Given the description of an element on the screen output the (x, y) to click on. 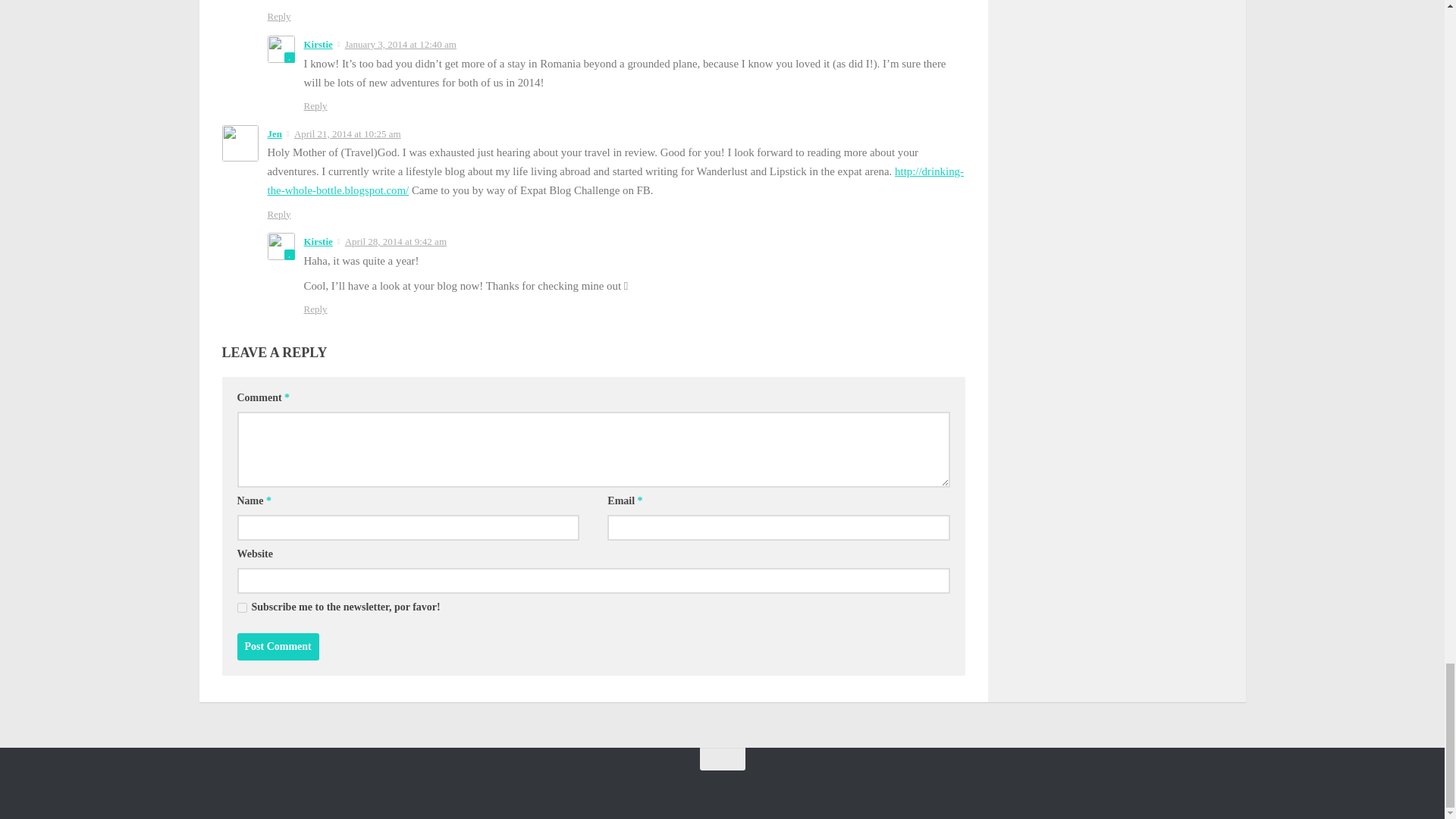
Post Comment (276, 646)
1 (240, 607)
